Given the description of an element on the screen output the (x, y) to click on. 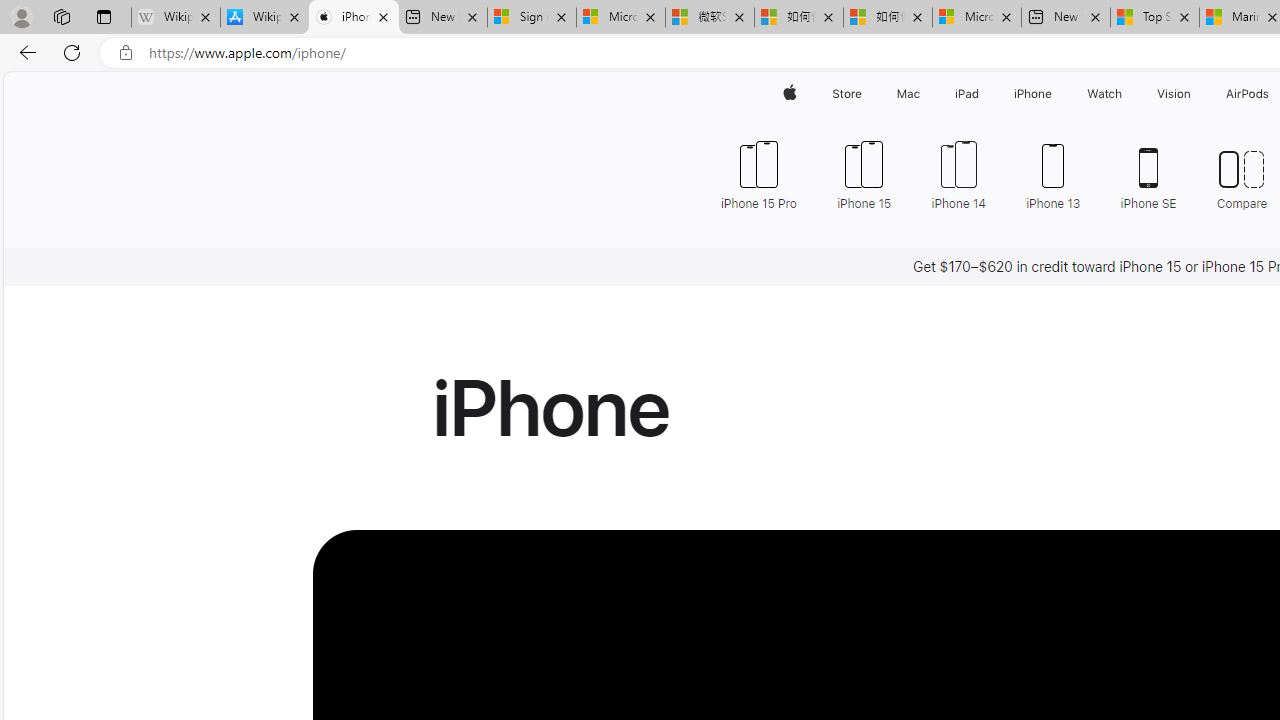
Compare (1242, 173)
iPhone (1033, 93)
Mac (908, 93)
iPhone 14 (957, 173)
Class: globalnav-submenu-trigger-item (1195, 93)
Watch menu (1125, 93)
iPhone 15 (864, 173)
Apple (789, 93)
iPhone SE (1147, 173)
AirPods (1247, 93)
